Given the description of an element on the screen output the (x, y) to click on. 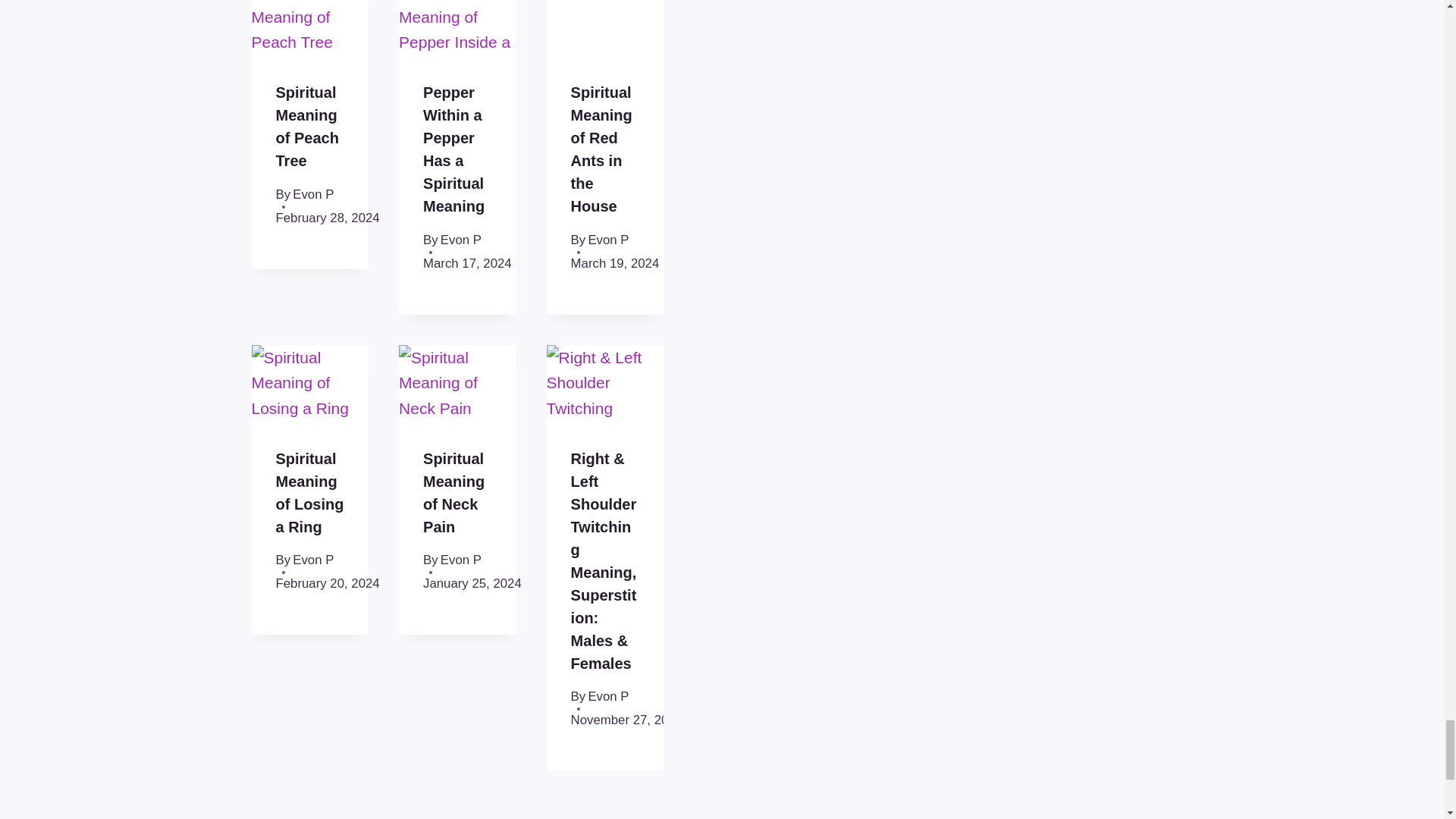
Evon P (608, 239)
Evon P (461, 239)
Evon P (312, 194)
Evon P (312, 559)
